Given the description of an element on the screen output the (x, y) to click on. 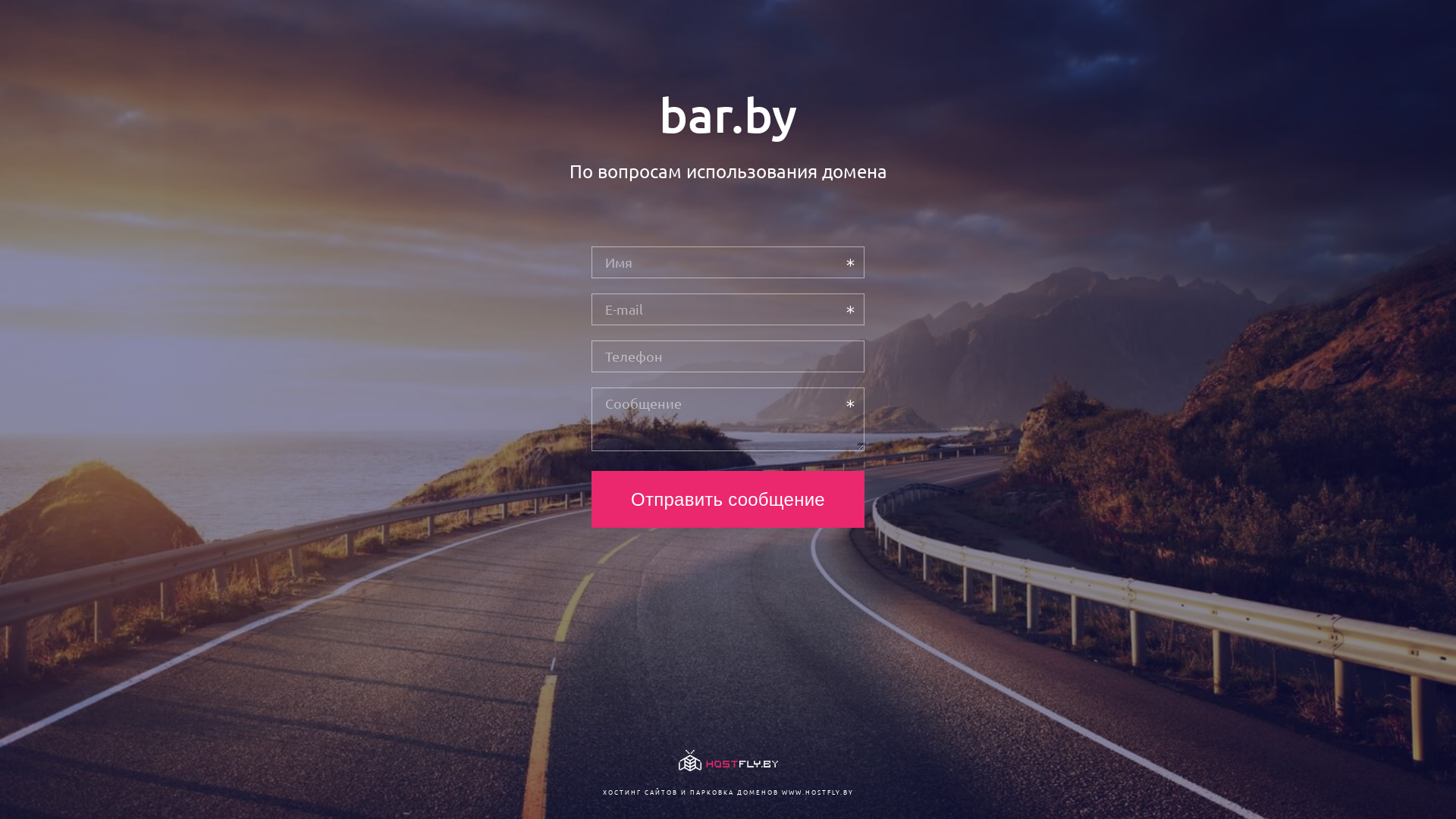
WWW.HOSTFLY.BY Element type: text (817, 791)
